Given the description of an element on the screen output the (x, y) to click on. 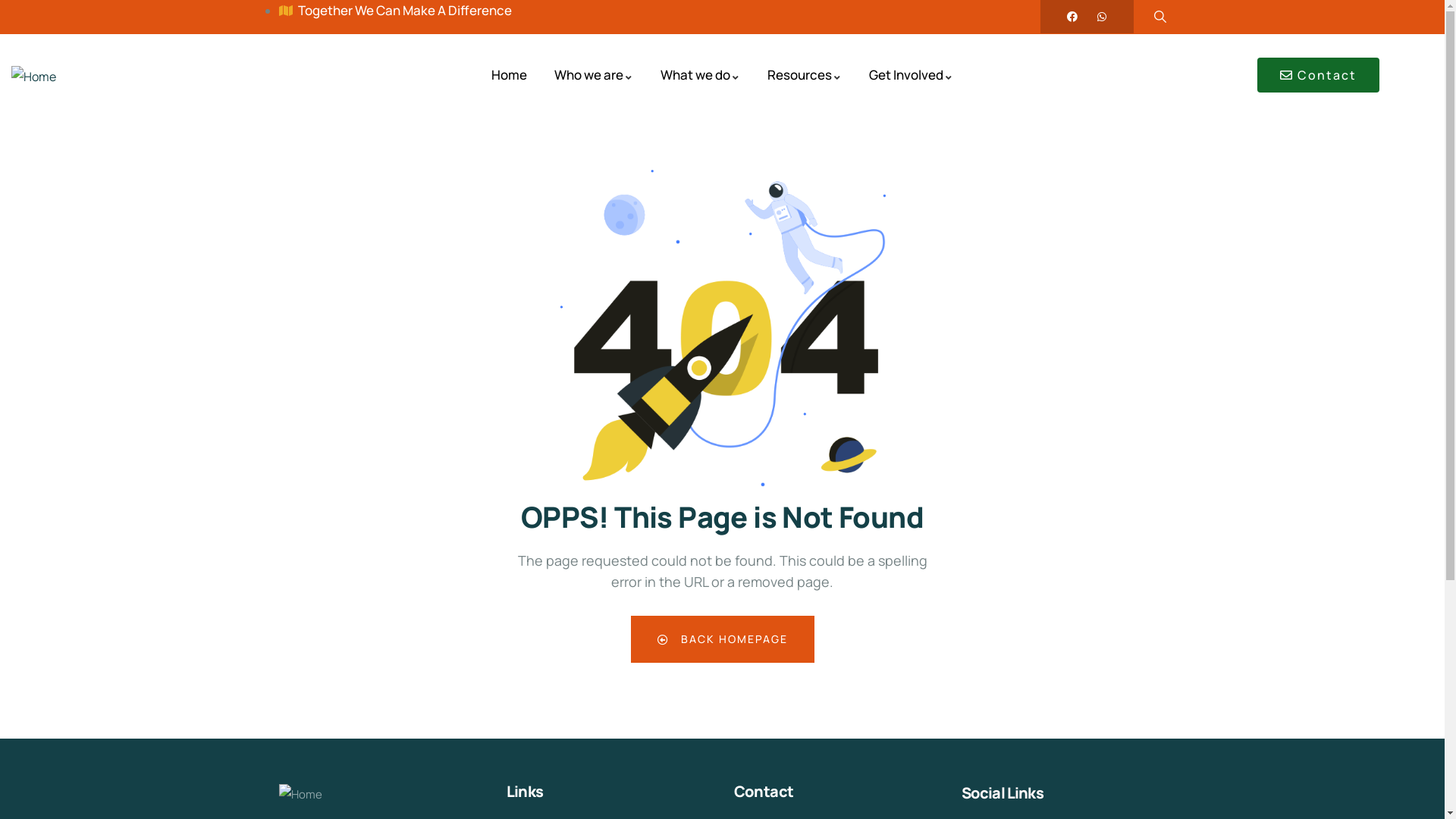
Contact Element type: text (1318, 74)
Home Element type: text (509, 75)
Resources Element type: text (804, 75)
What we do Element type: text (700, 75)
BACK HOMEPAGE Element type: text (722, 638)
Home Element type: hover (300, 795)
Home Element type: hover (33, 76)
Get Involved Element type: text (911, 75)
Who we are Element type: text (593, 75)
